Given the description of an element on the screen output the (x, y) to click on. 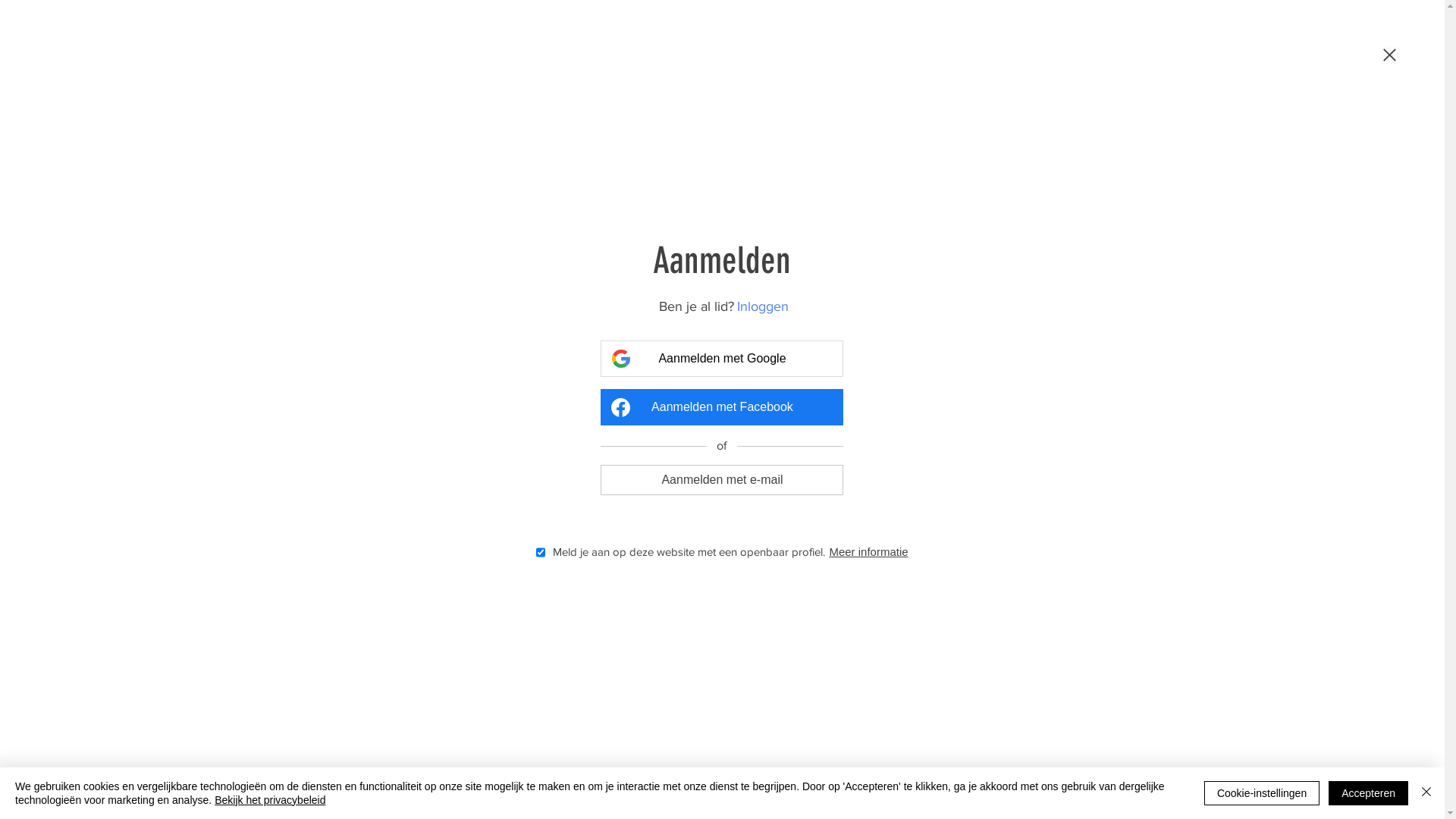
Aanmelden met Google Element type: text (721, 358)
Aanmelden met e-mail Element type: text (721, 479)
Accepteren Element type: text (1368, 793)
Meer informatie Element type: text (870, 551)
Aanmelden met Facebook Element type: text (721, 407)
Bekijk het privacybeleid Element type: text (269, 799)
Cookie-instellingen Element type: text (1261, 793)
Inloggen Element type: text (763, 306)
